Given the description of an element on the screen output the (x, y) to click on. 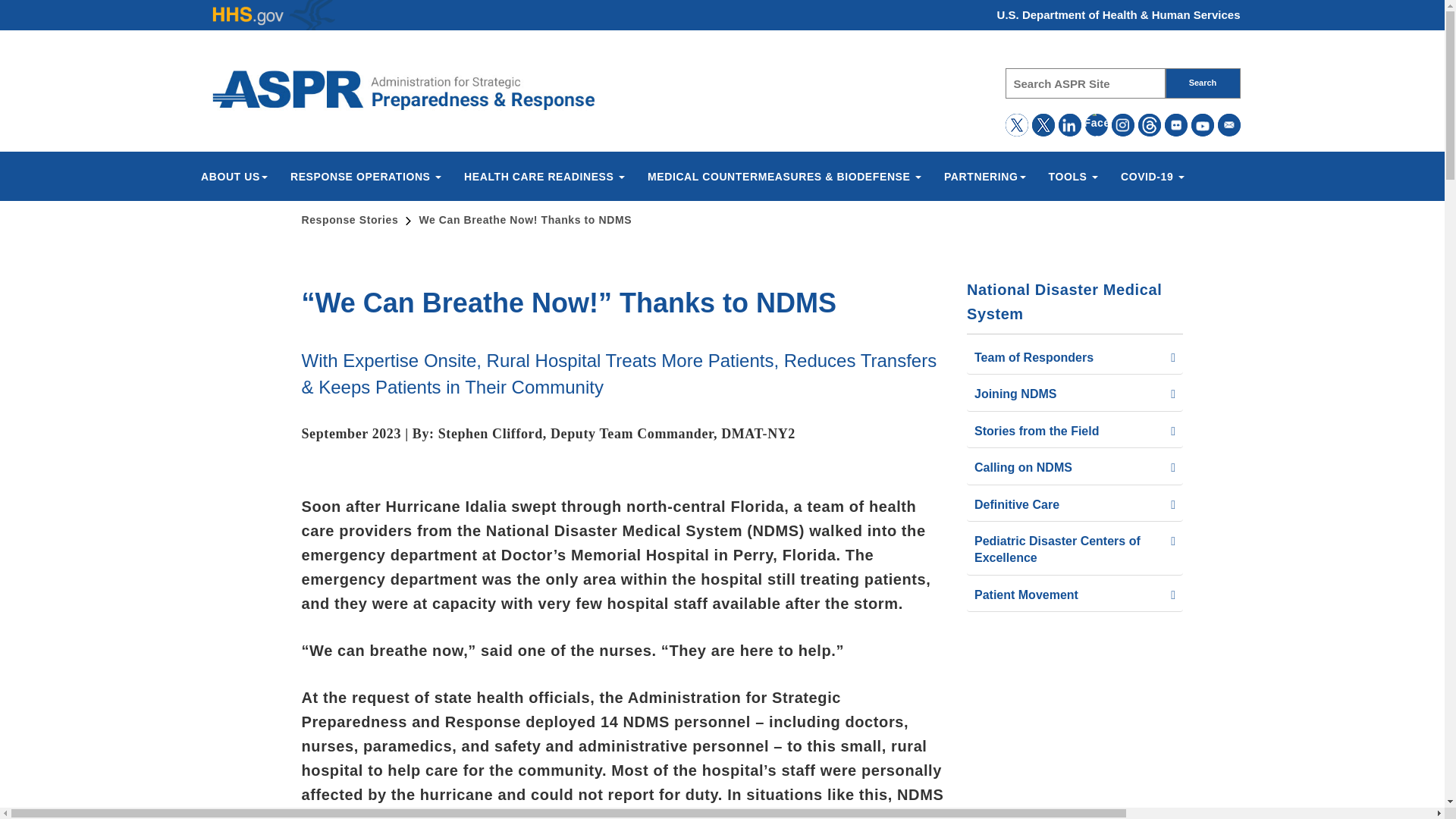
ABOUT US (234, 176)
RESPONSE OPERATIONS (365, 176)
NDMS Response Stories from the Field (404, 90)
Search (1202, 82)
